Given the description of an element on the screen output the (x, y) to click on. 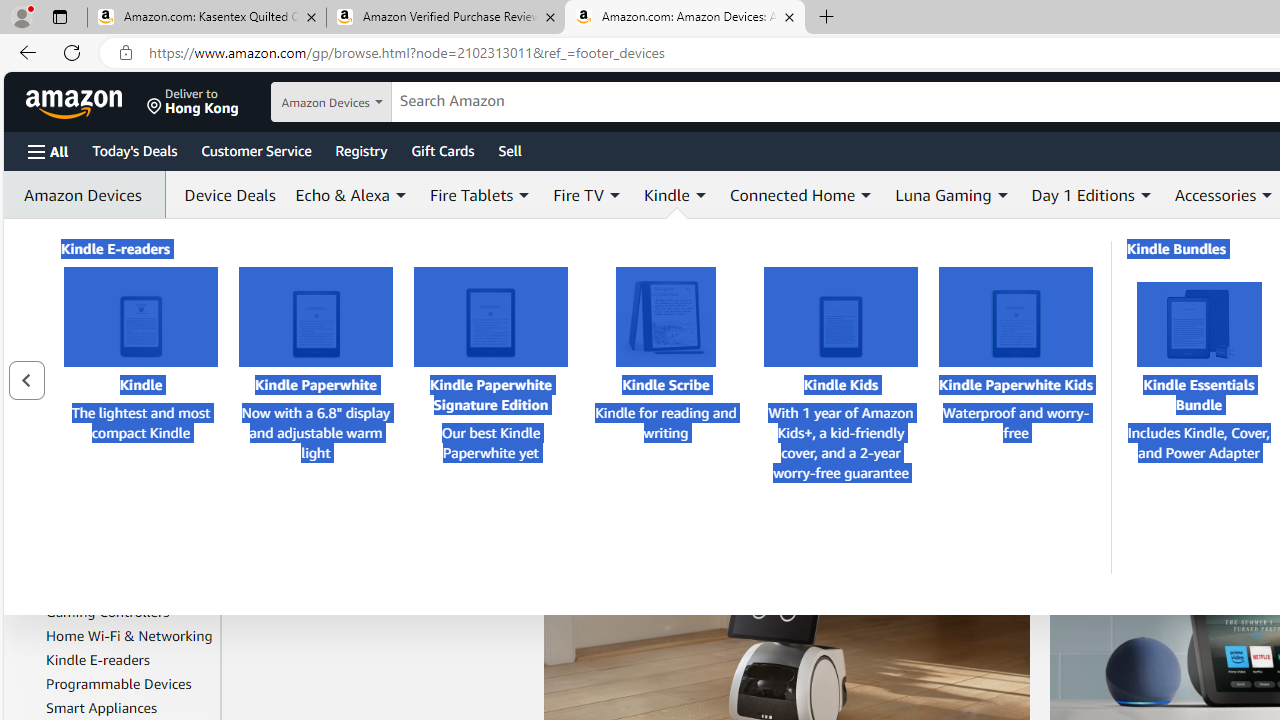
Luna Gaming (952, 194)
Kindle (140, 317)
Expand Fire TV (614, 195)
Echo & Alexa (342, 194)
Amazon (76, 101)
Last 90 days (61, 296)
Day 1 Editions (1082, 194)
Fire TV (68, 564)
Connected Home (792, 194)
